Given the description of an element on the screen output the (x, y) to click on. 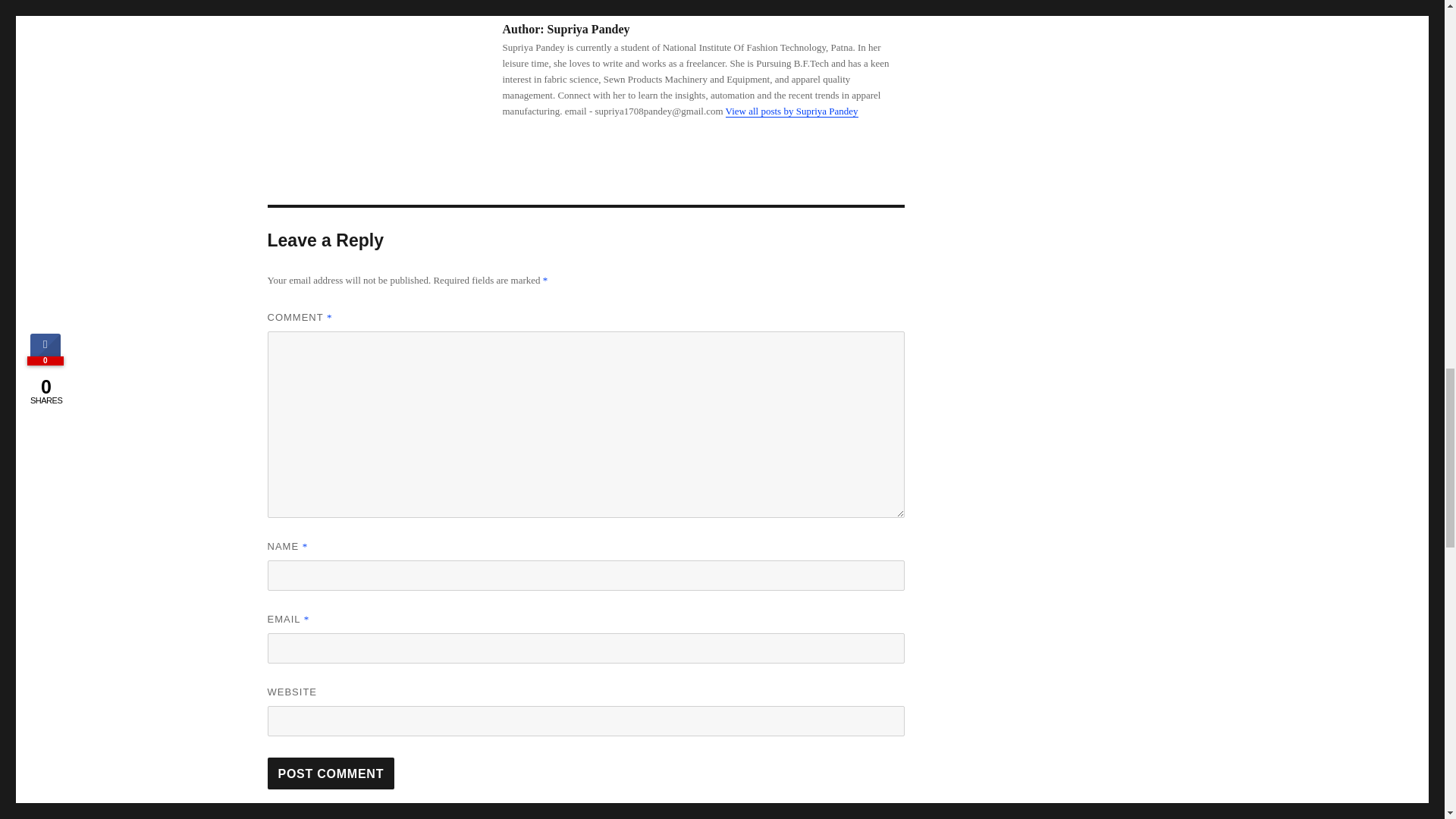
View all posts by Supriya Pandey (792, 111)
Post Comment (330, 773)
Post Comment (330, 773)
